Given the description of an element on the screen output the (x, y) to click on. 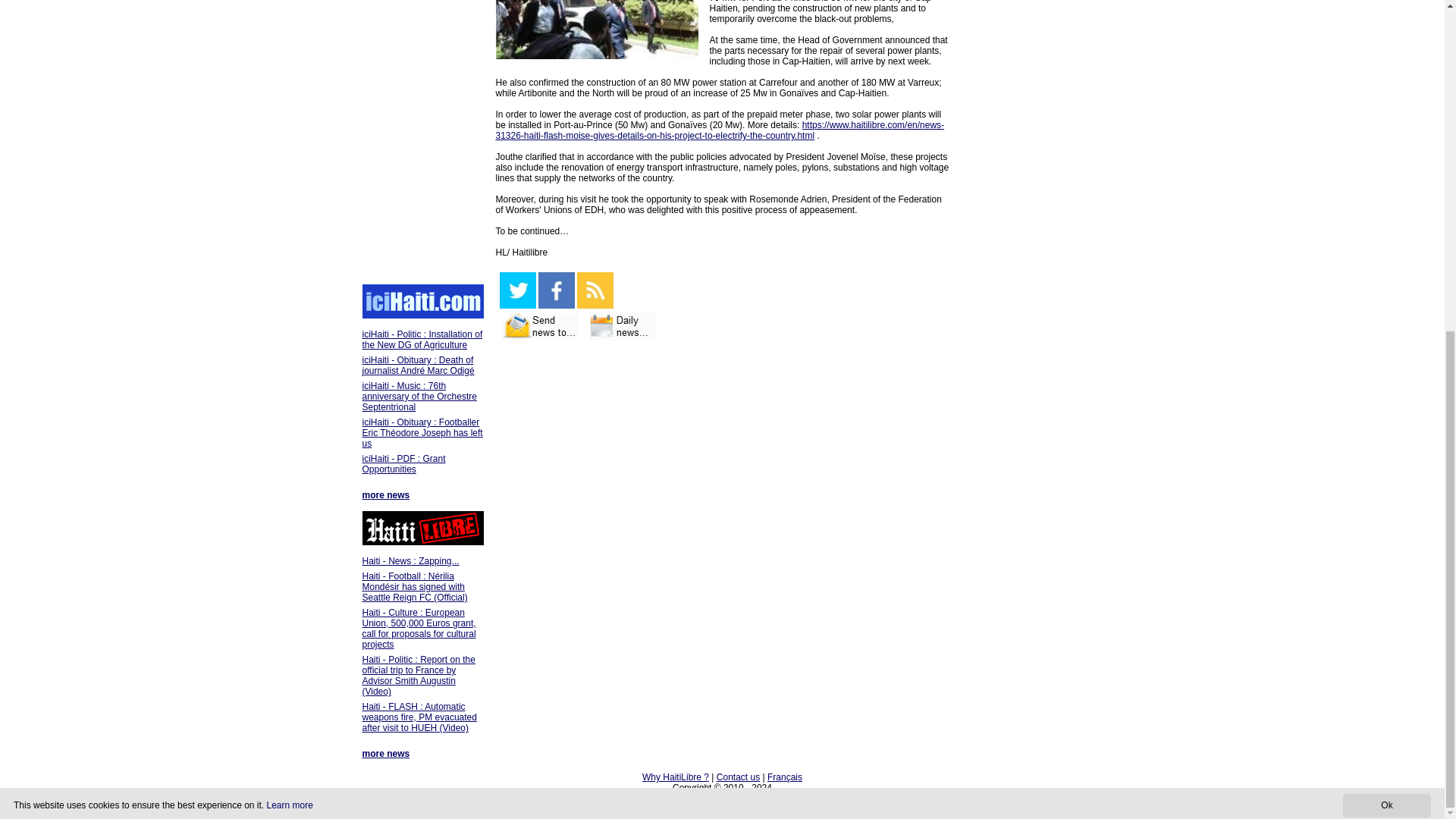
more news (386, 753)
iciHaiti - PDF : Grant Opportunities (403, 464)
more news (386, 494)
Haiti - News : Zapping... (411, 561)
